Given the description of an element on the screen output the (x, y) to click on. 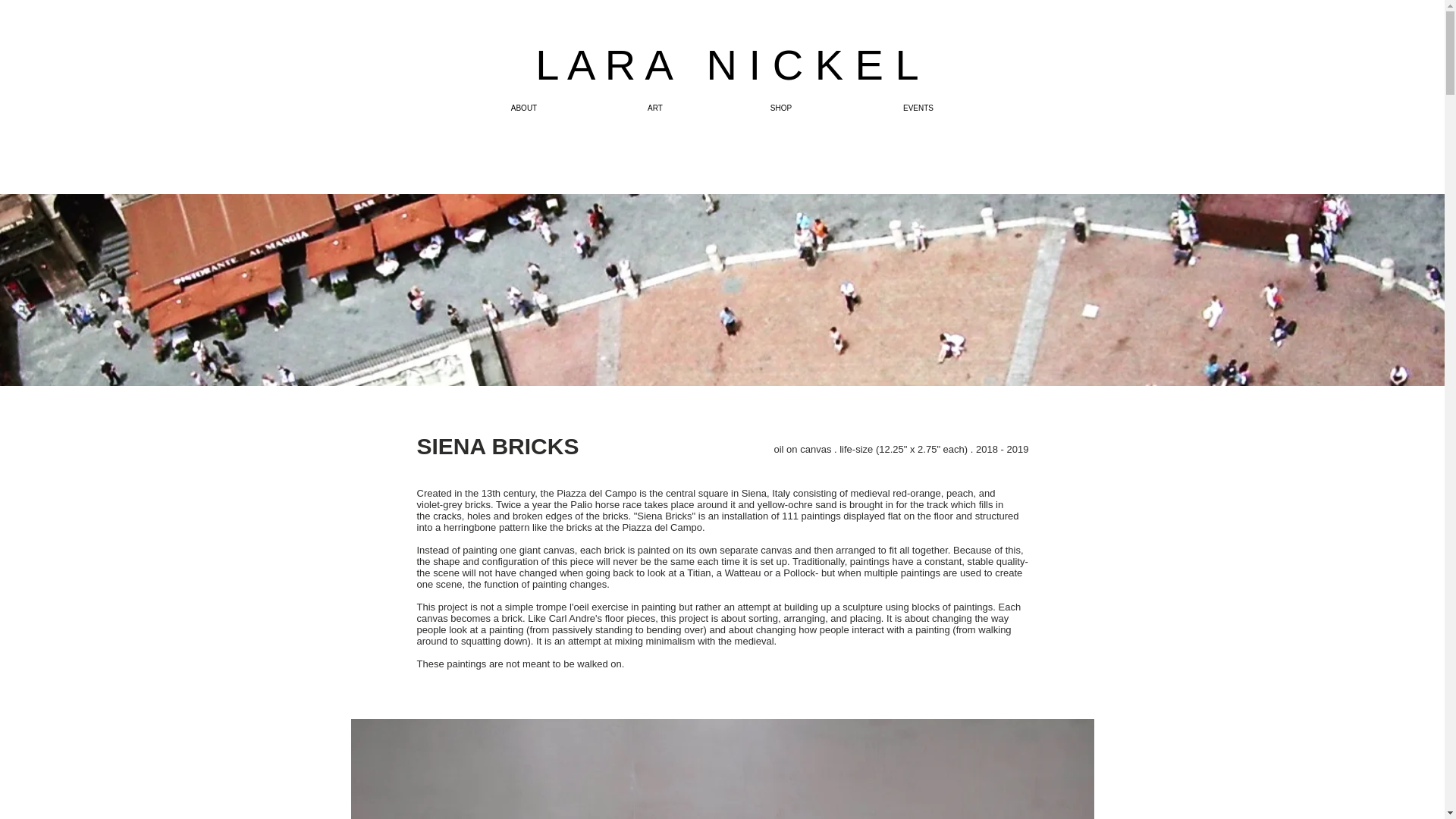
EVENTS (918, 108)
ABOUT (523, 108)
ART (655, 108)
SHOP (780, 108)
